Given the description of an element on the screen output the (x, y) to click on. 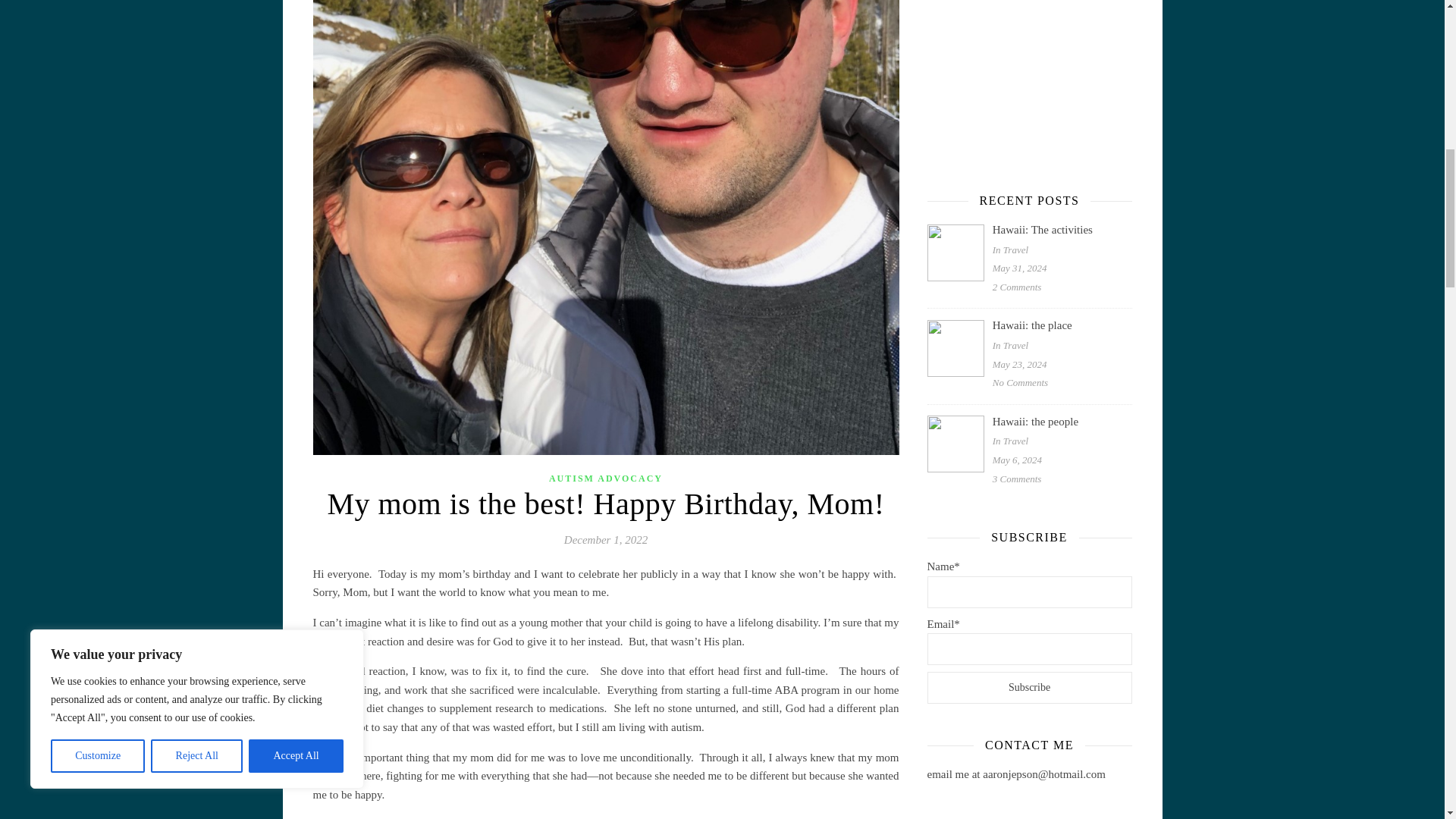
Subscribe (1028, 687)
